Given the description of an element on the screen output the (x, y) to click on. 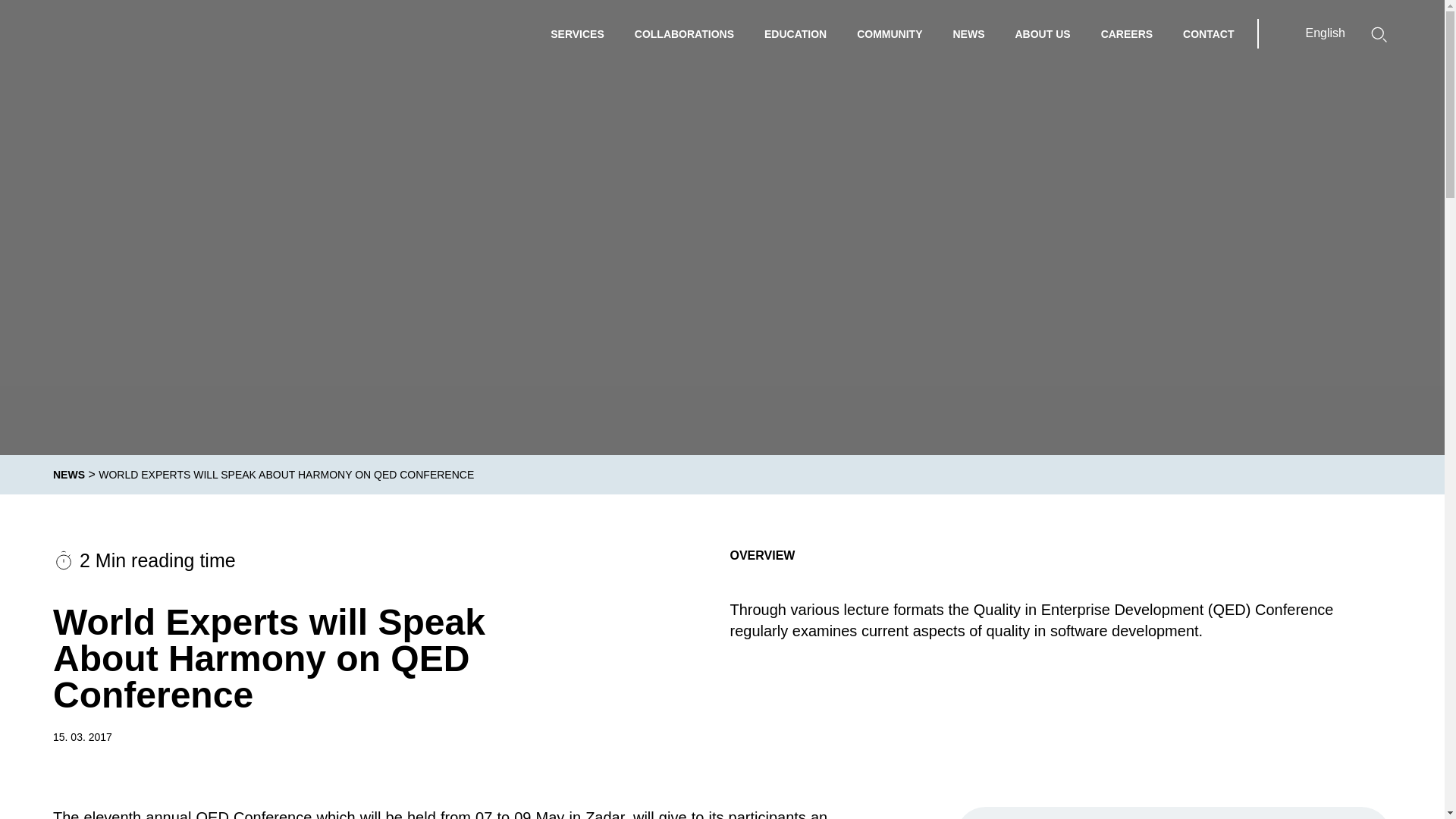
The eleventh annual QED Conference (181, 814)
CAREERS (1126, 32)
CONTACT (1208, 32)
SERVICES (577, 32)
NEWS (68, 474)
EDUCATION (795, 32)
COLLABORATIONS (684, 32)
ABOUT US (1042, 32)
COMMUNITY (889, 32)
Go to News. (68, 474)
